Given the description of an element on the screen output the (x, y) to click on. 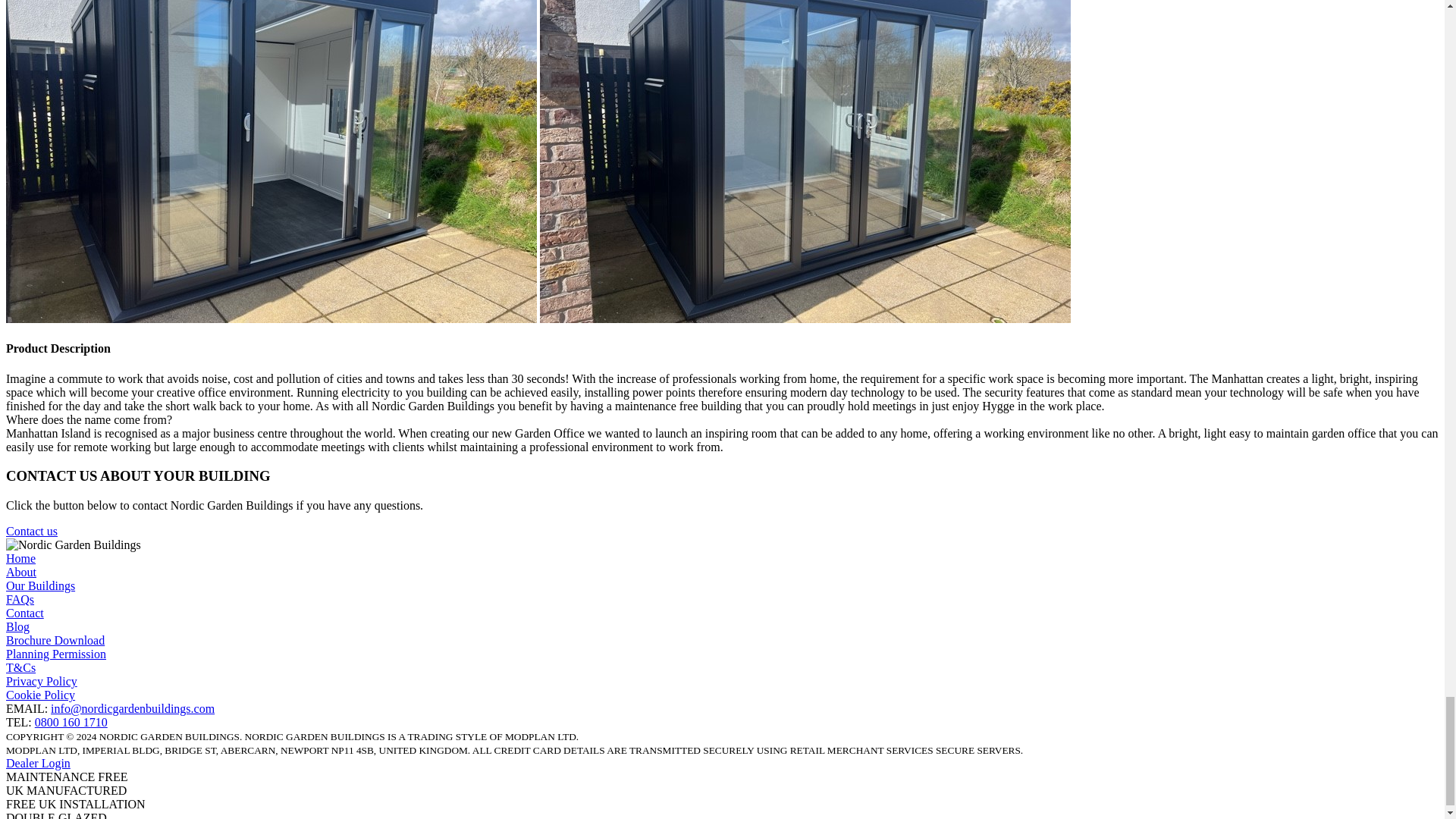
Nordic Garden Buildings (73, 545)
